Given the description of an element on the screen output the (x, y) to click on. 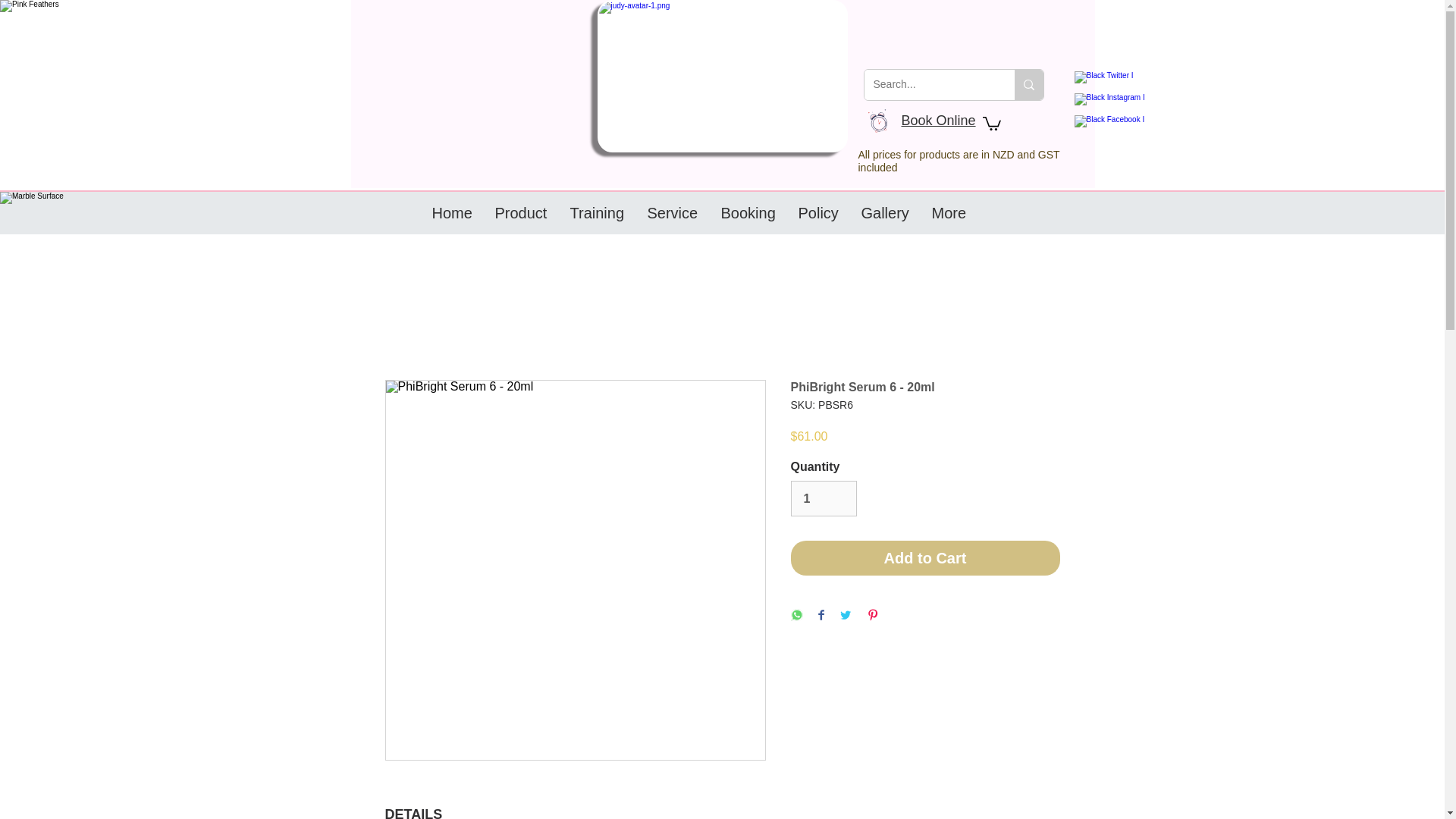
Home (451, 212)
1 (823, 497)
Product (521, 212)
Training (595, 212)
Book Online (938, 120)
